Given the description of an element on the screen output the (x, y) to click on. 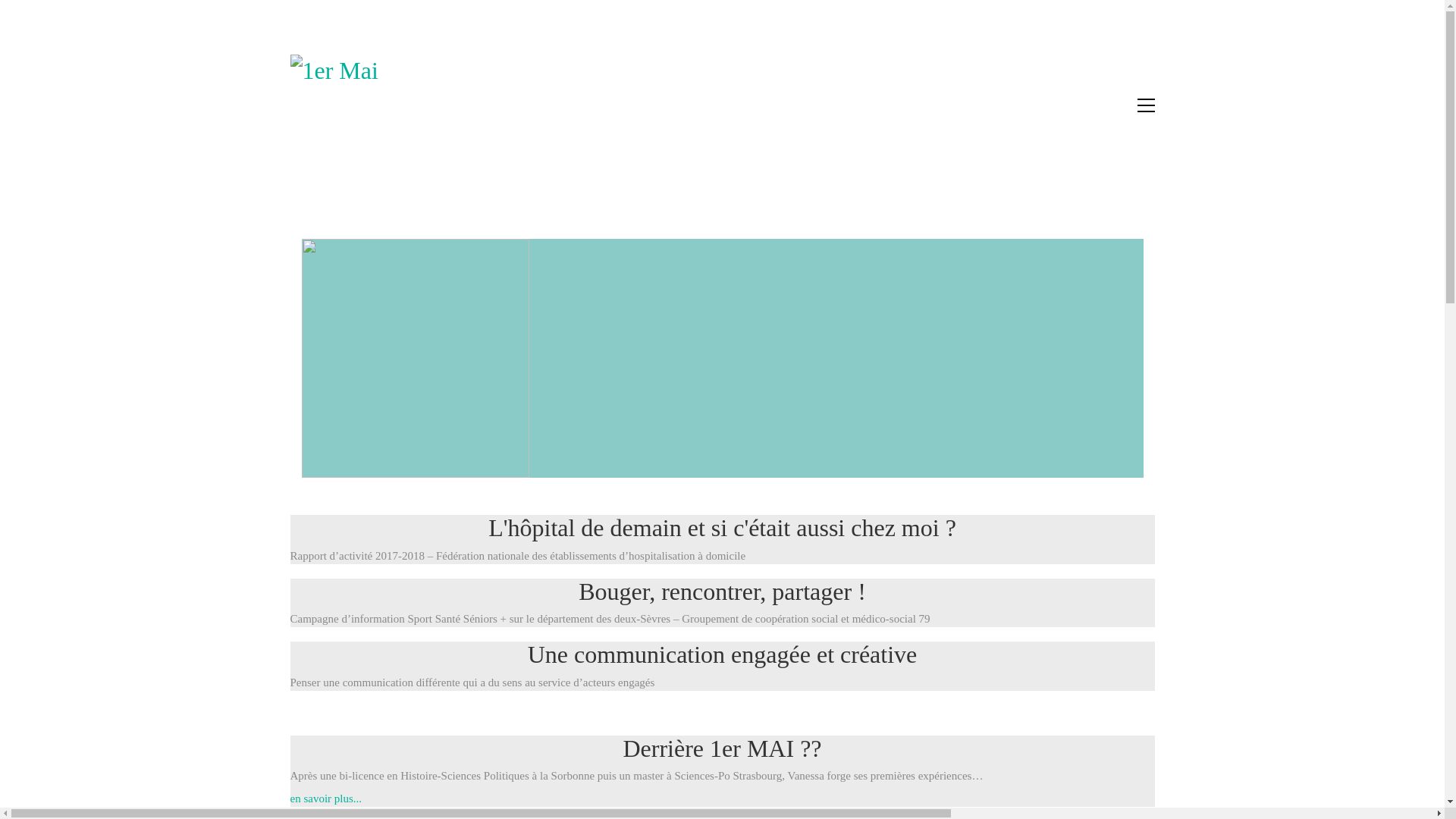
en savoir plus... Element type: text (325, 798)
